Given the description of an element on the screen output the (x, y) to click on. 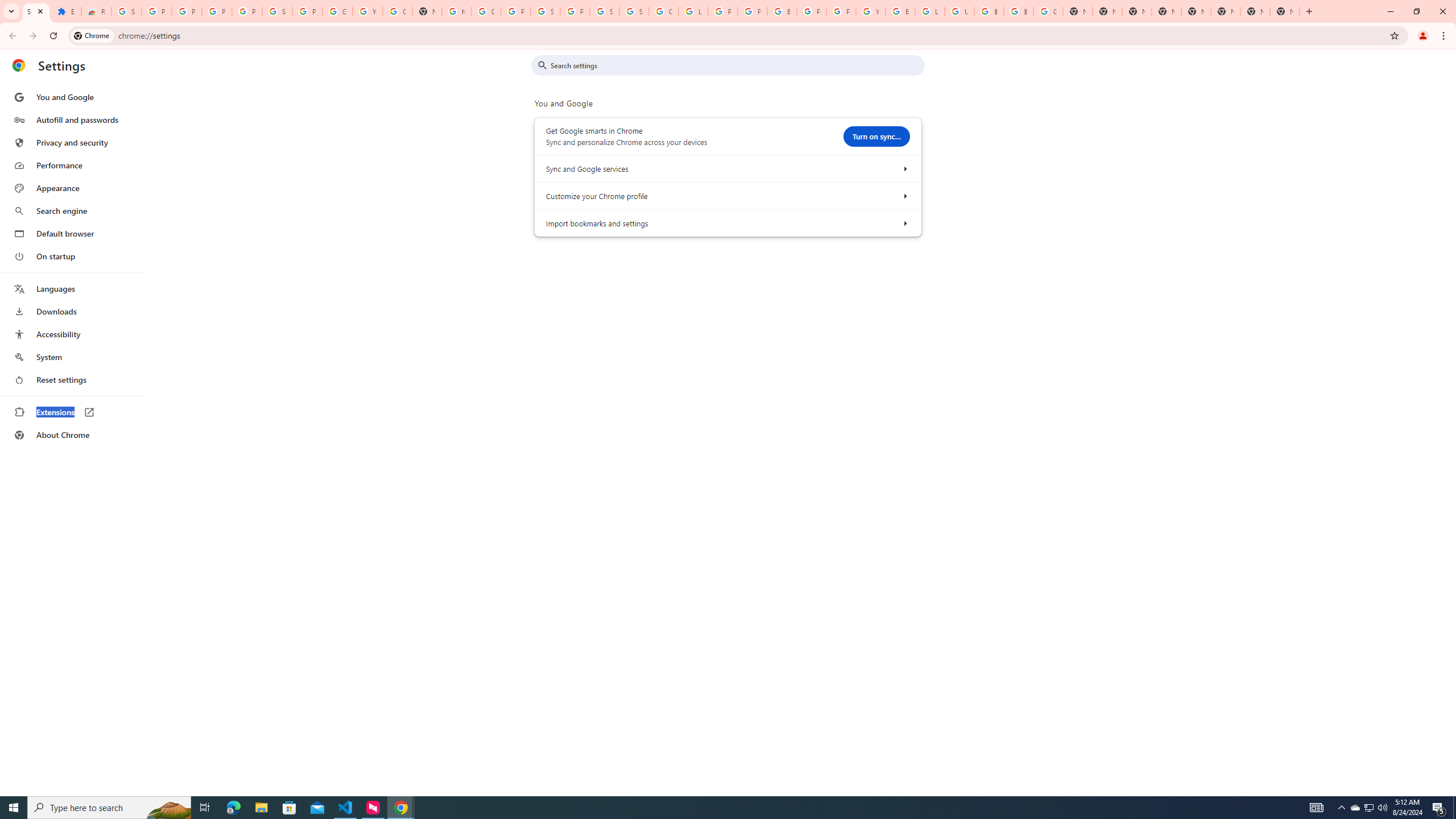
Privacy Help Center - Policies Help (722, 11)
New Tab (1284, 11)
https://scholar.google.com/ (456, 11)
Privacy Help Center - Policies Help (751, 11)
Search engine (70, 210)
On startup (70, 255)
YouTube (870, 11)
Privacy and security (70, 142)
